Given the description of an element on the screen output the (x, y) to click on. 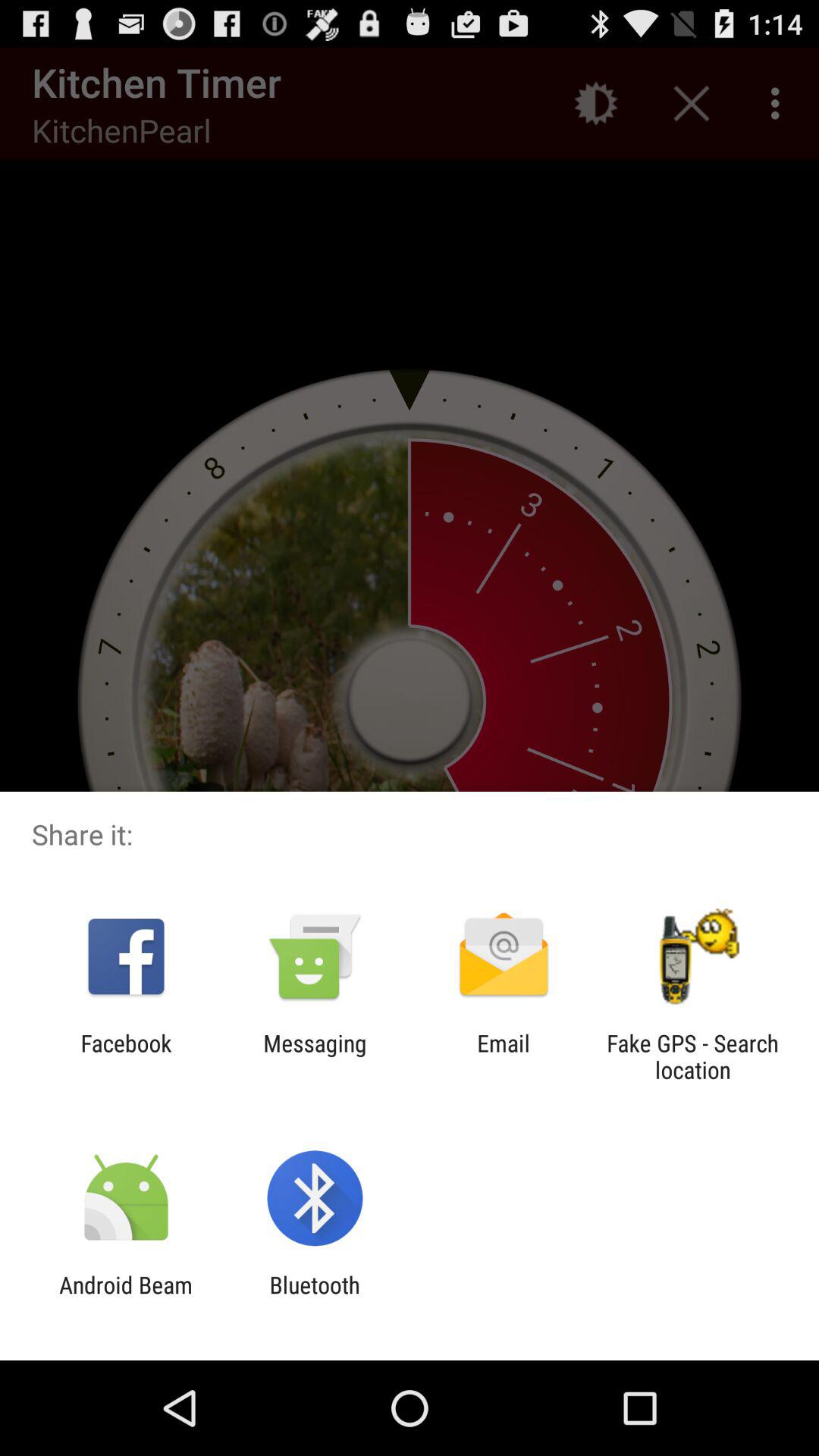
turn on item at the bottom right corner (692, 1056)
